Given the description of an element on the screen output the (x, y) to click on. 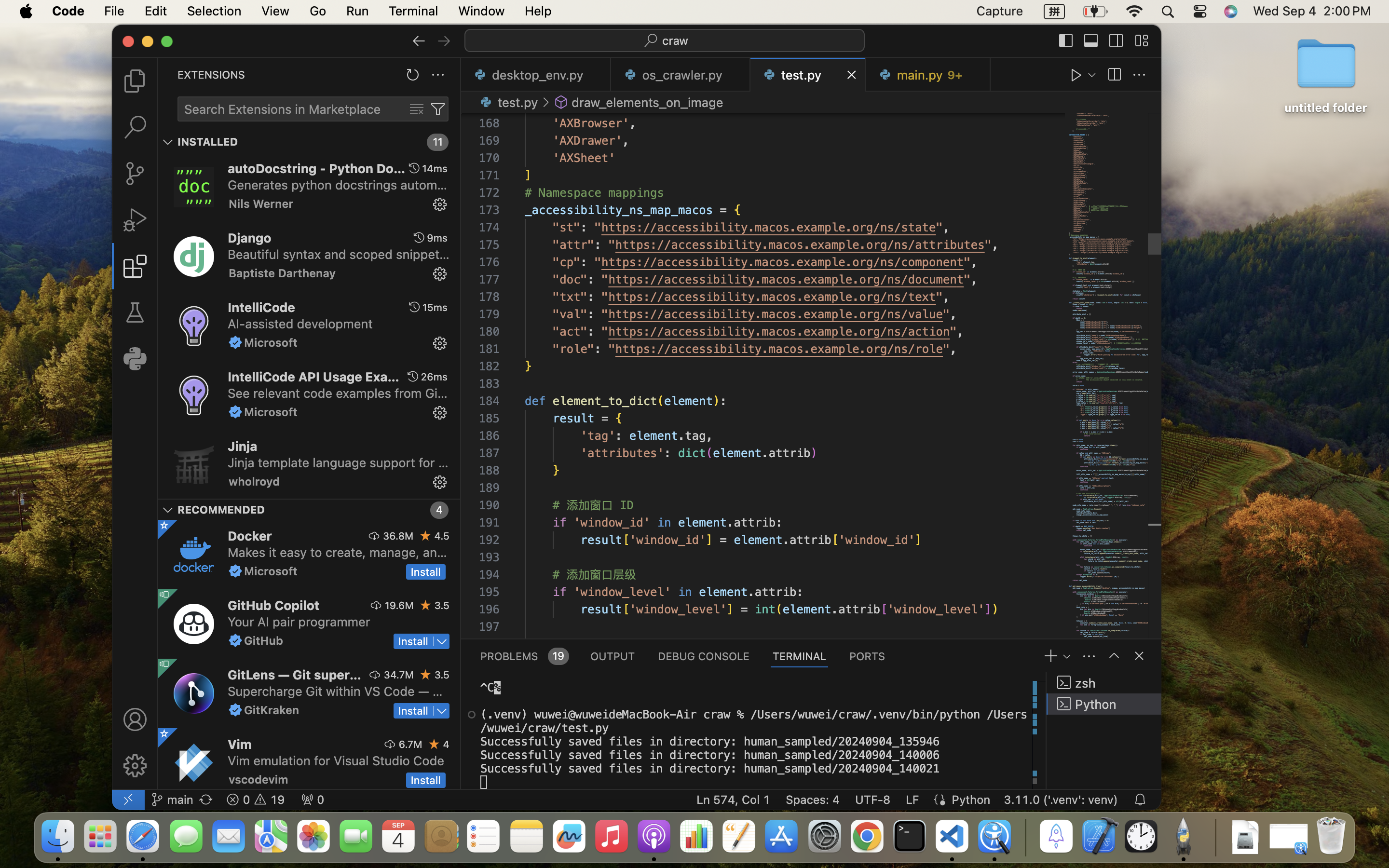
Supercharge Git within VS Code — Visualize code authorship at a glance via Git blame annotations and CodeLens, seamlessly navigate and explore Git repositories, gain valuable insights via rich visualizations and powerful comparison commands, and so much more Element type: AXStaticText (334, 690)
 Element type: AXCheckBox (1115, 40)
0.4285714328289032 Element type: AXDockItem (1024, 836)
INSTALLED Element type: AXStaticText (207, 141)
Docker Element type: AXStaticText (249, 535)
